Given the description of an element on the screen output the (x, y) to click on. 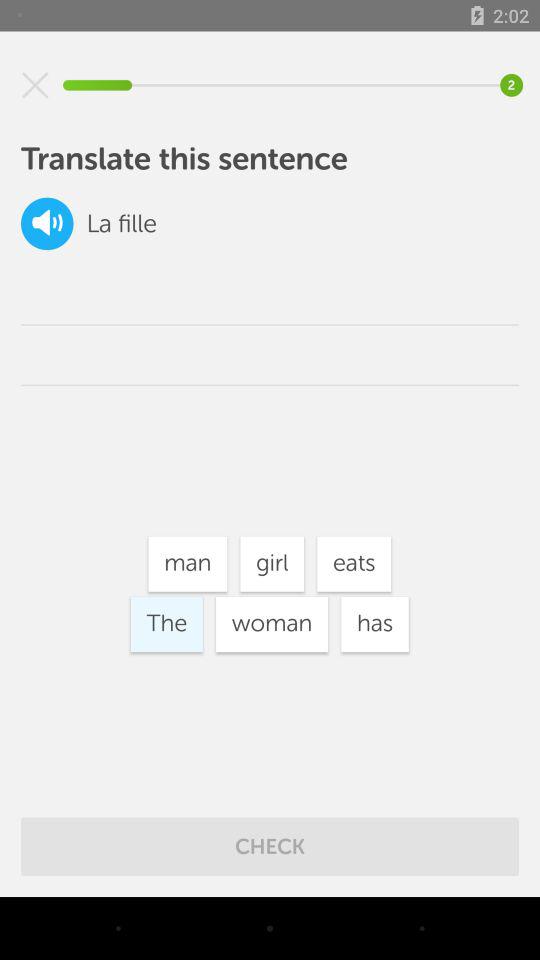
launch the icon next to the la item (47, 223)
